Given the description of an element on the screen output the (x, y) to click on. 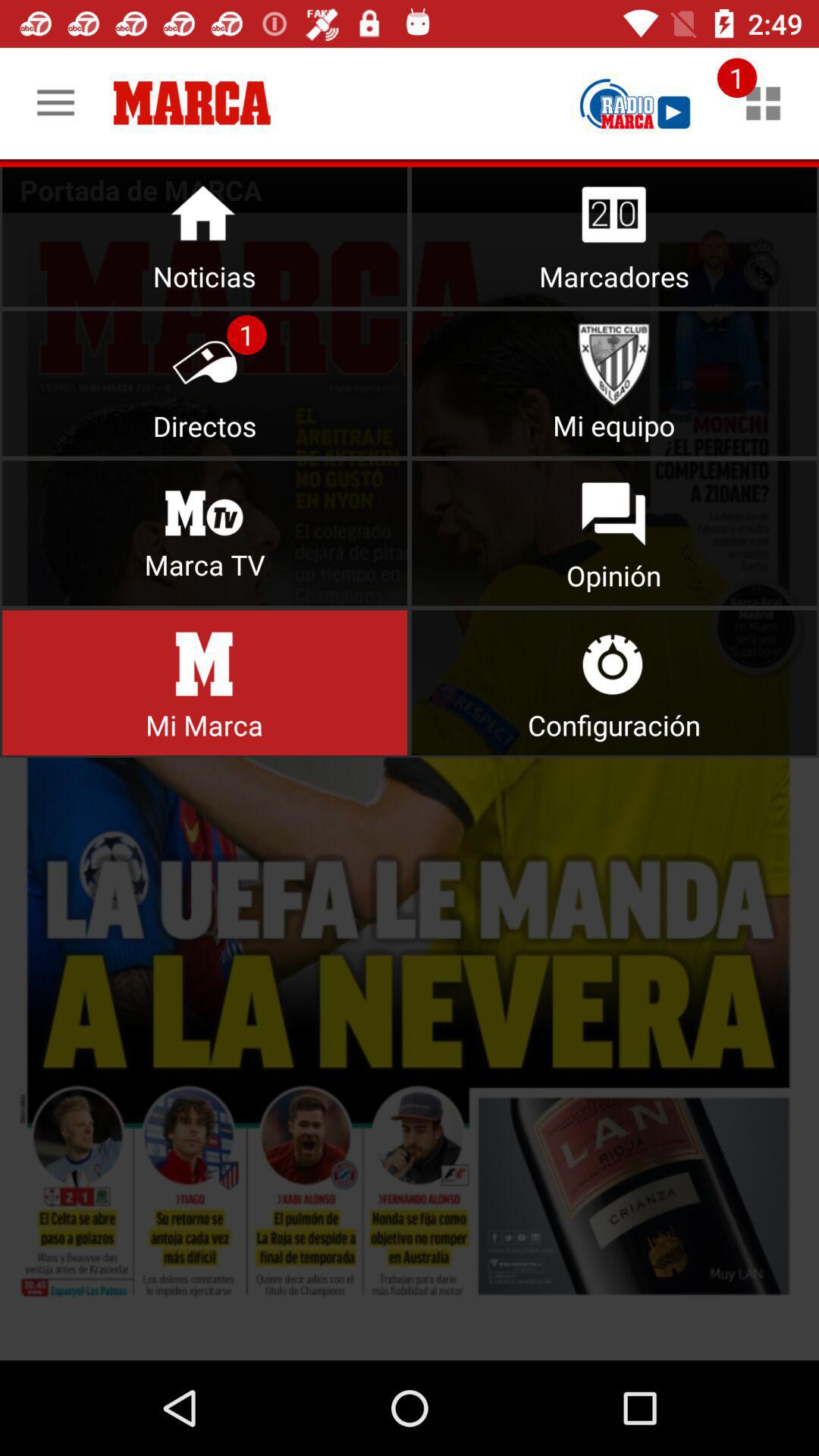
directos (204, 383)
